Given the description of an element on the screen output the (x, y) to click on. 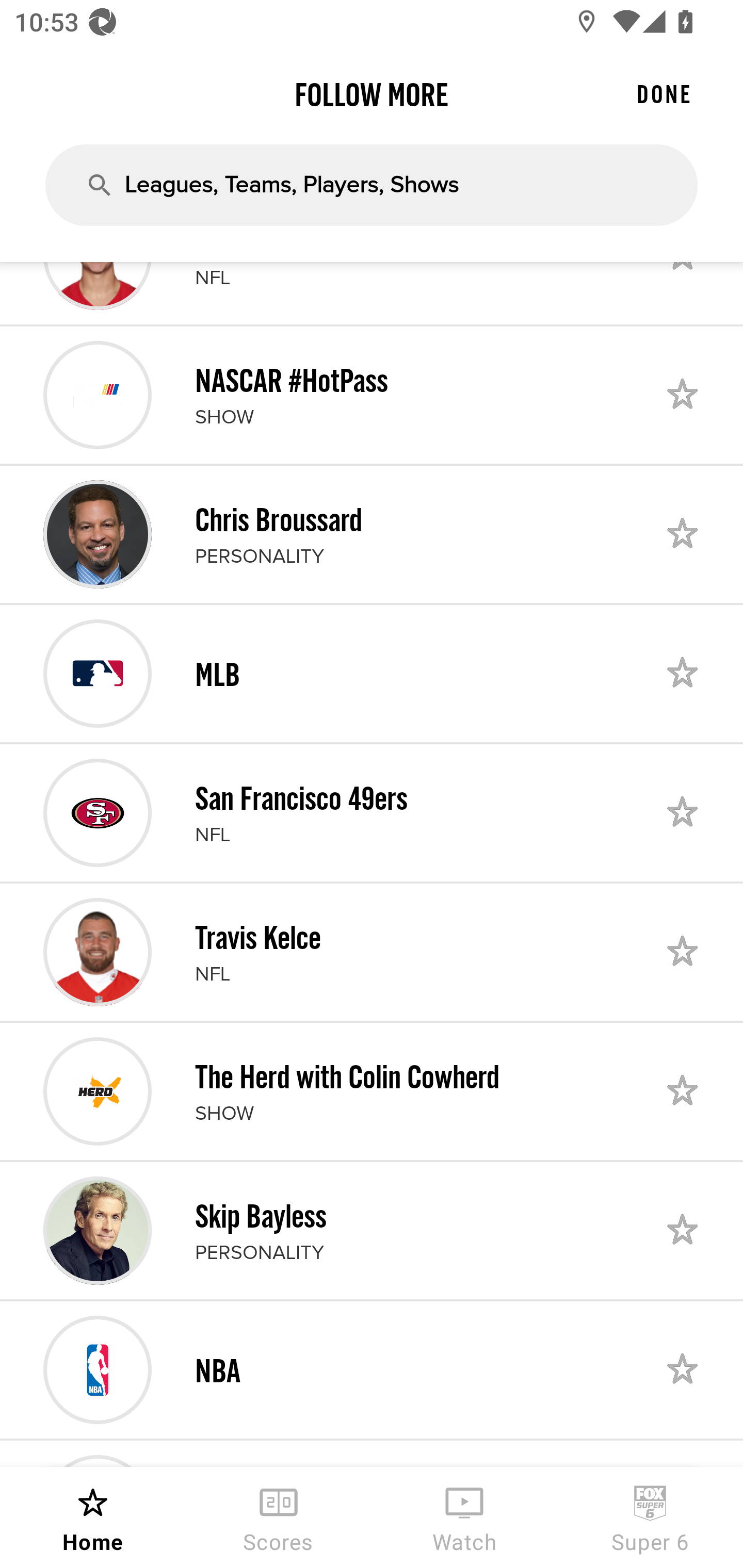
DONE (663, 93)
Leagues, Teams, Players, Shows (371, 184)
NASCAR #HotPass SHOW (371, 395)
Chris Broussard PERSONALITY (371, 534)
MLB (371, 673)
San Francisco 49ers NFL (371, 812)
Travis Kelce NFL (371, 951)
The Herd with Colin Cowherd SHOW (371, 1091)
Skip Bayless PERSONALITY (371, 1230)
NBA (371, 1369)
Scores (278, 1517)
Watch (464, 1517)
Super 6 (650, 1517)
